Given the description of an element on the screen output the (x, y) to click on. 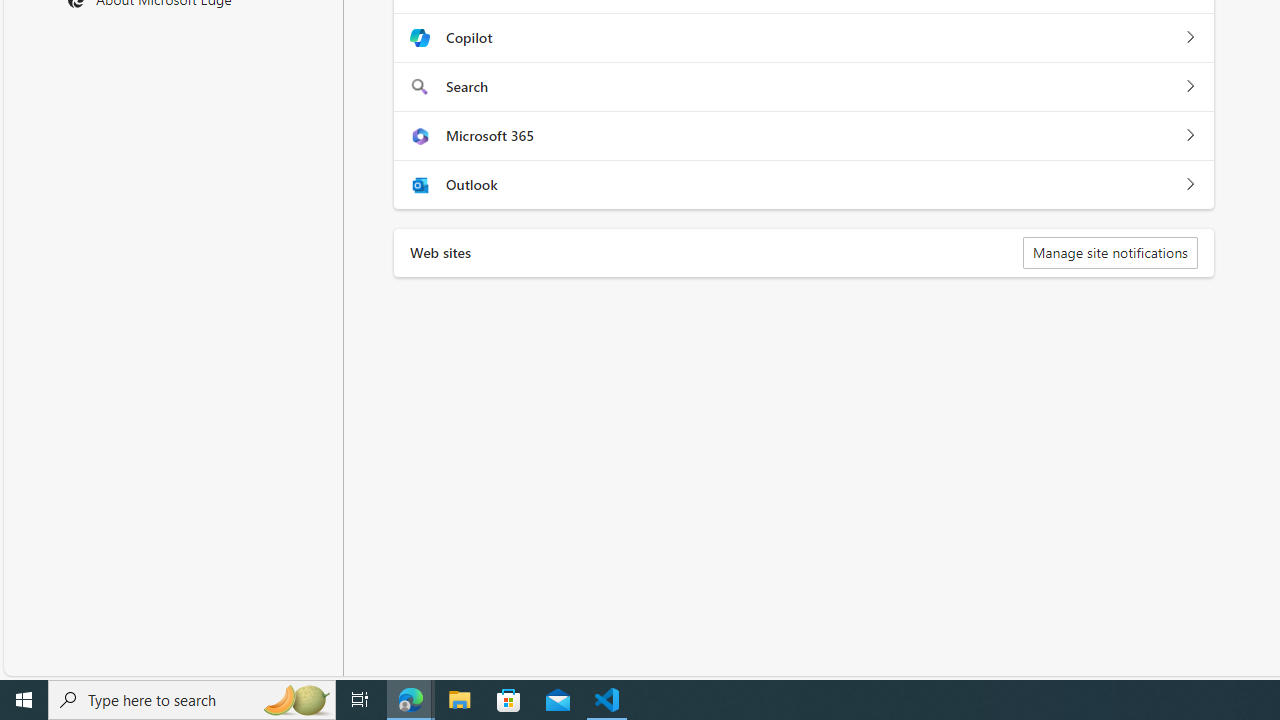
Manage site notifications (1109, 252)
Copilot (1190, 38)
